Given the description of an element on the screen output the (x, y) to click on. 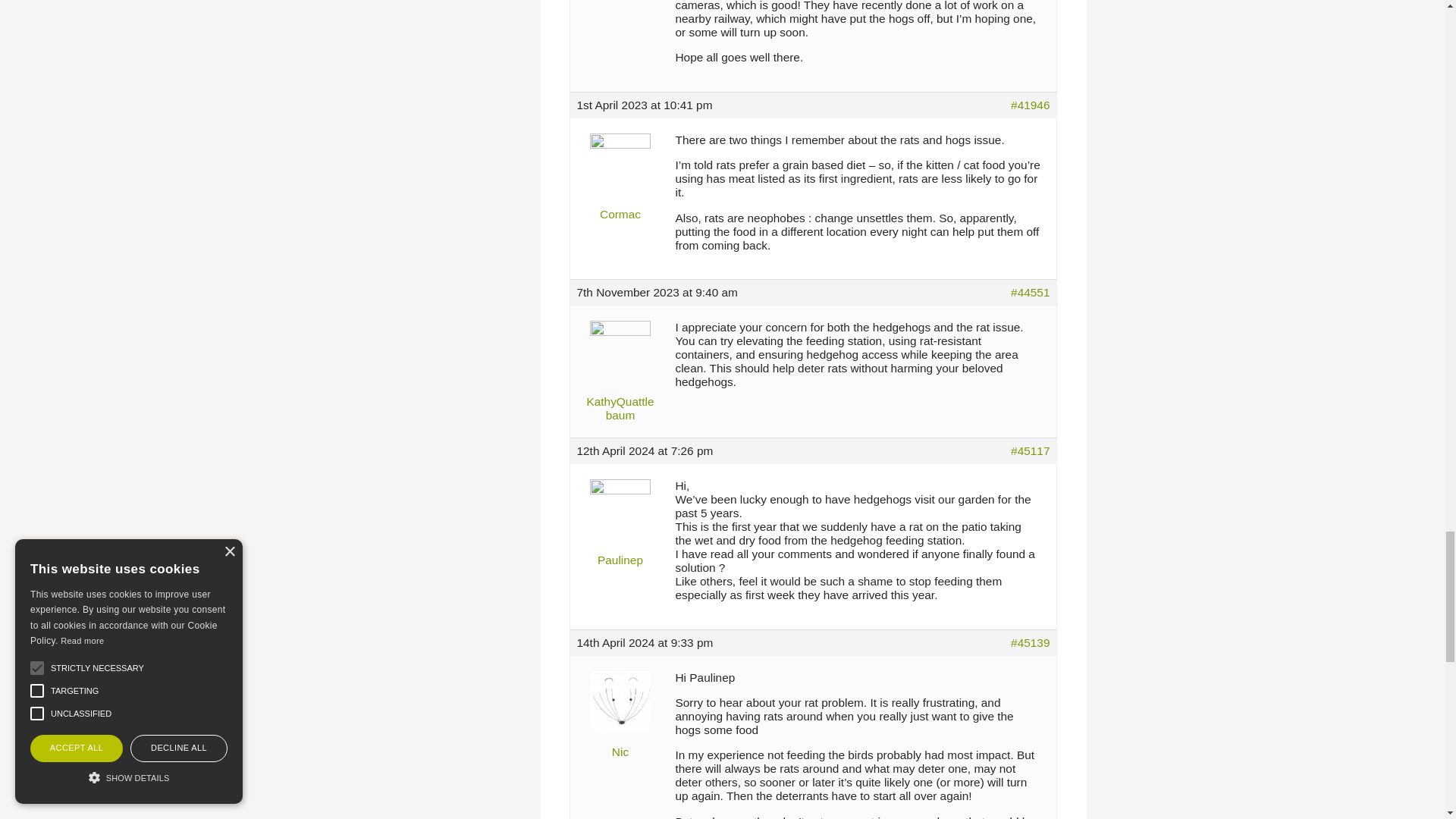
View Nic's profile (619, 710)
View Paulinep's profile (619, 518)
View Cormac's profile (619, 172)
View KathyQuattlebaum's profile (619, 367)
